Given the description of an element on the screen output the (x, y) to click on. 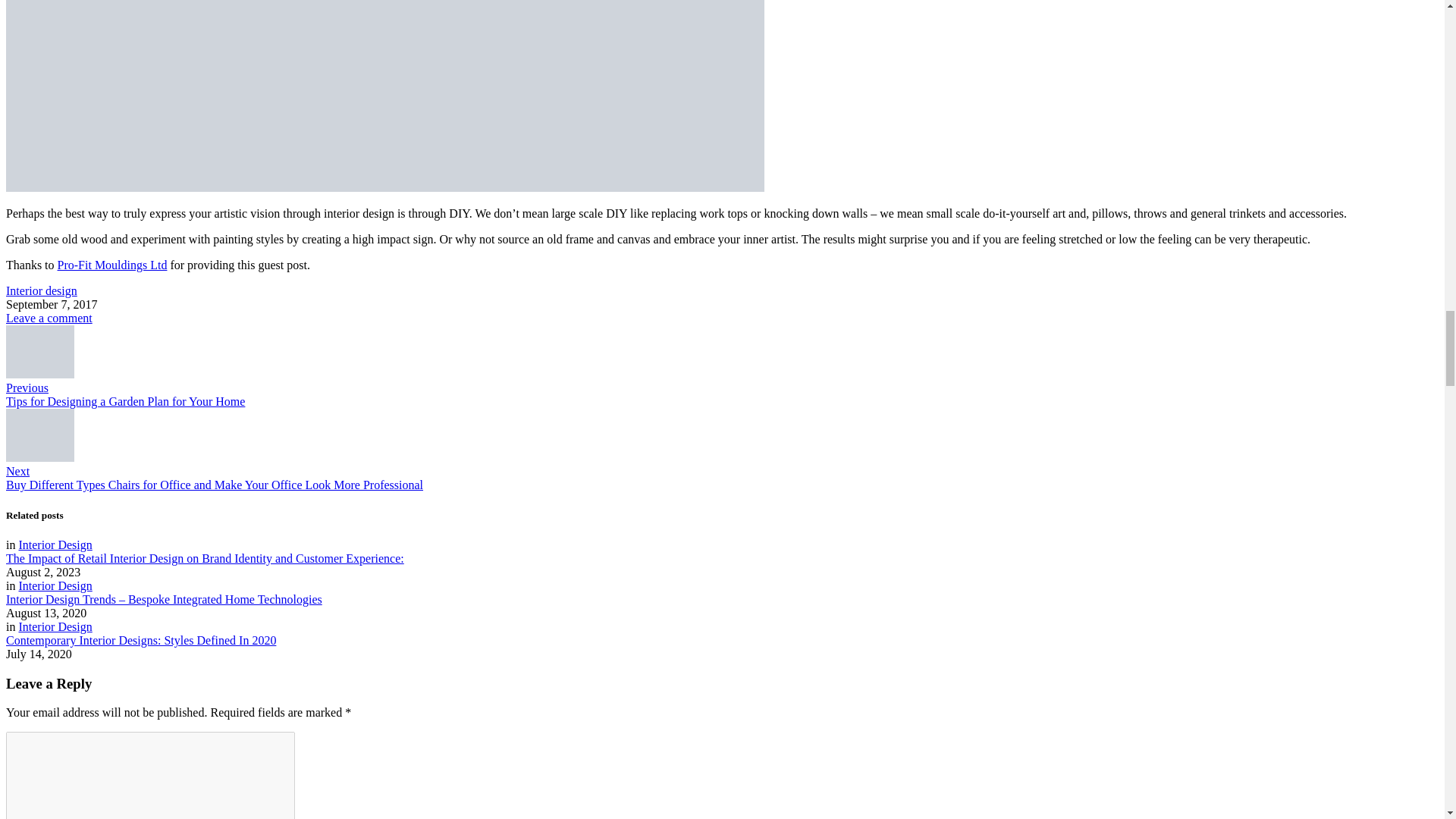
Pro-Fit Mouldings Ltd (112, 264)
Interior design (41, 290)
Interior Design (54, 544)
Leave a comment (49, 318)
